Given the description of an element on the screen output the (x, y) to click on. 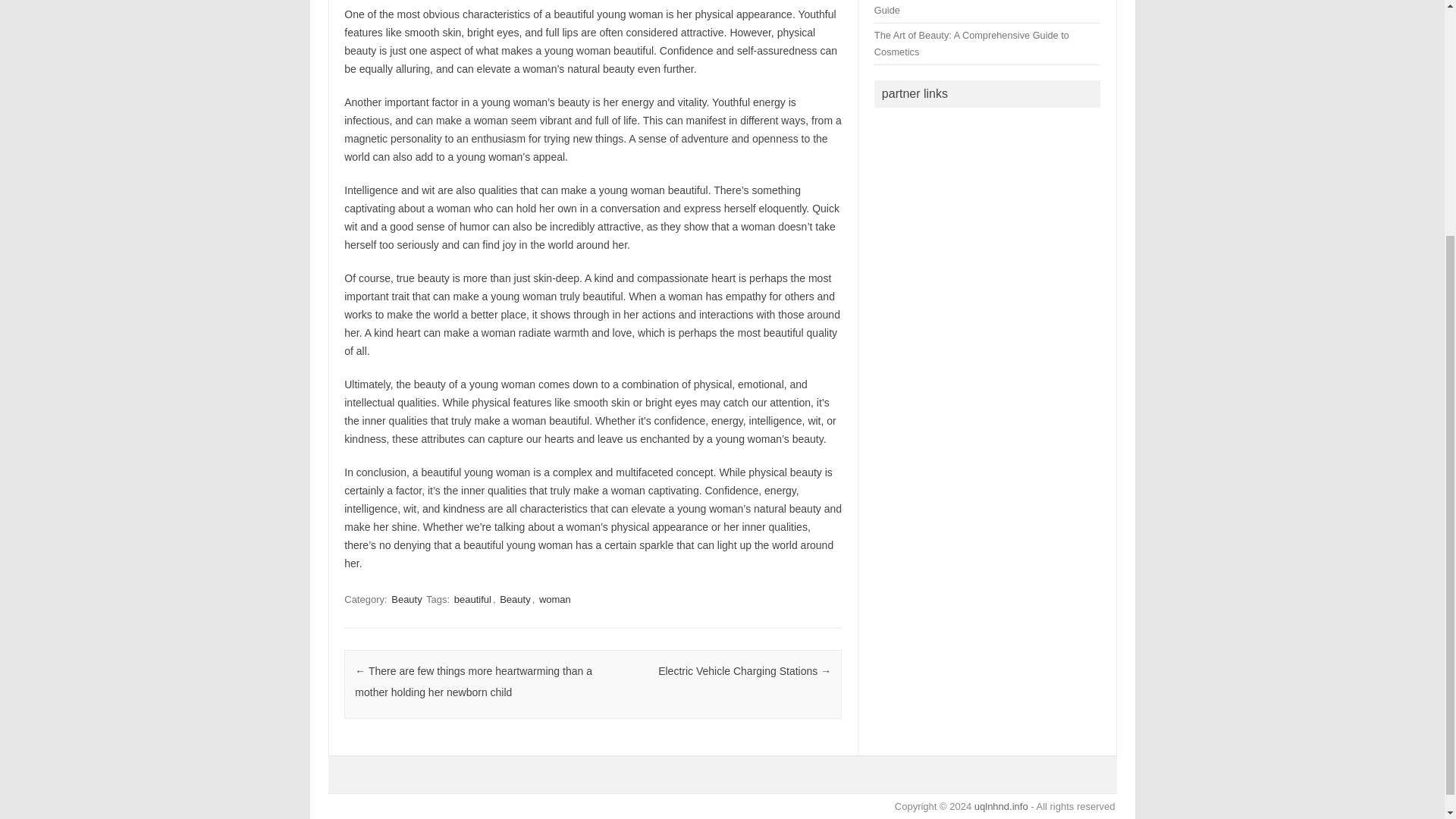
uqlnhnd.info (1000, 806)
The Art of Beauty: A Comprehensive Guide to Cosmetics (971, 43)
Beauty (406, 599)
Beauty (514, 599)
uqlnhnd.info (1000, 806)
The Importance of Furniture: A Comprehensive Guide (975, 7)
beautiful (472, 599)
woman (554, 599)
